Given the description of an element on the screen output the (x, y) to click on. 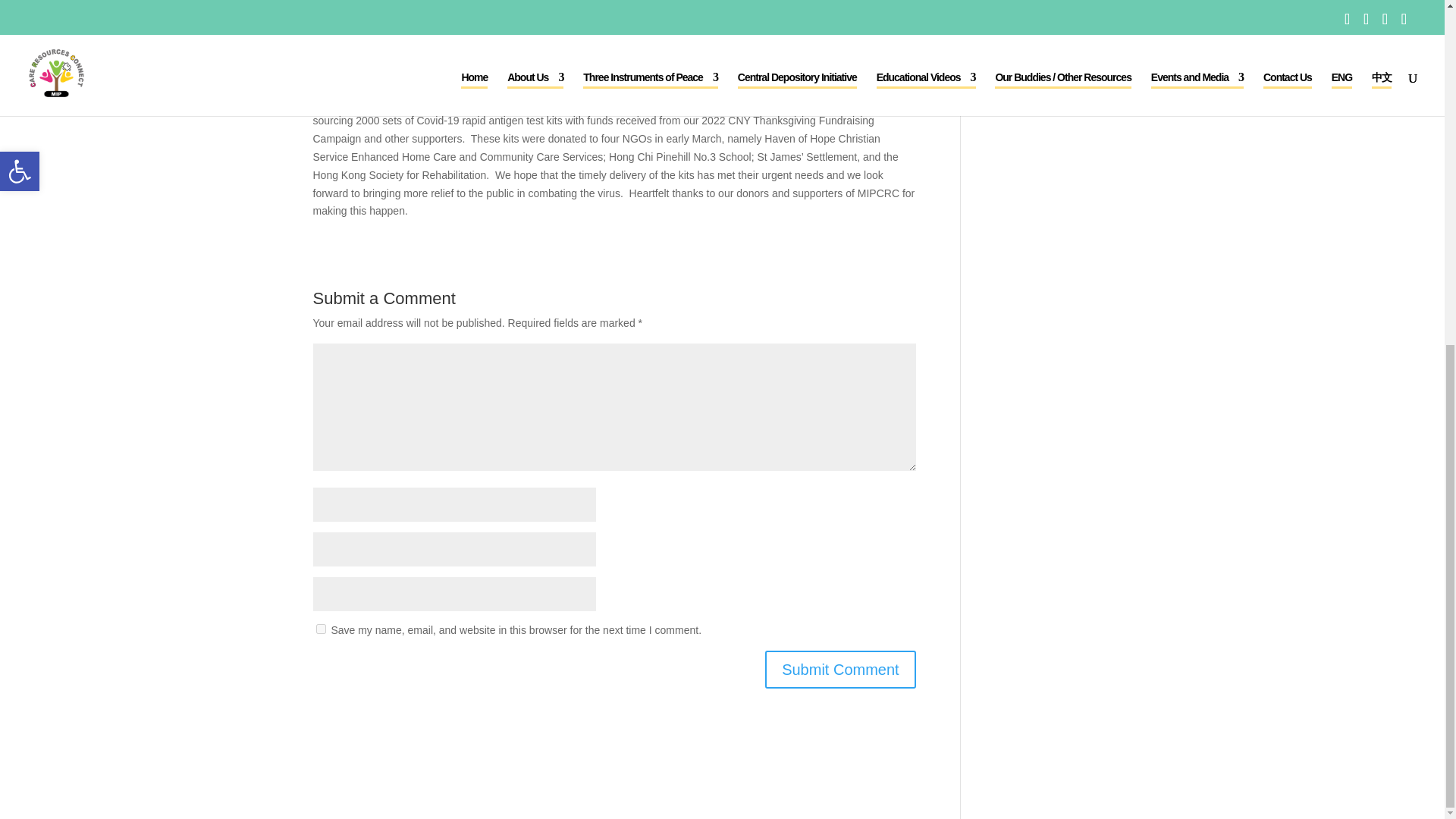
Submit Comment (840, 669)
yes (319, 628)
